Given the description of an element on the screen output the (x, y) to click on. 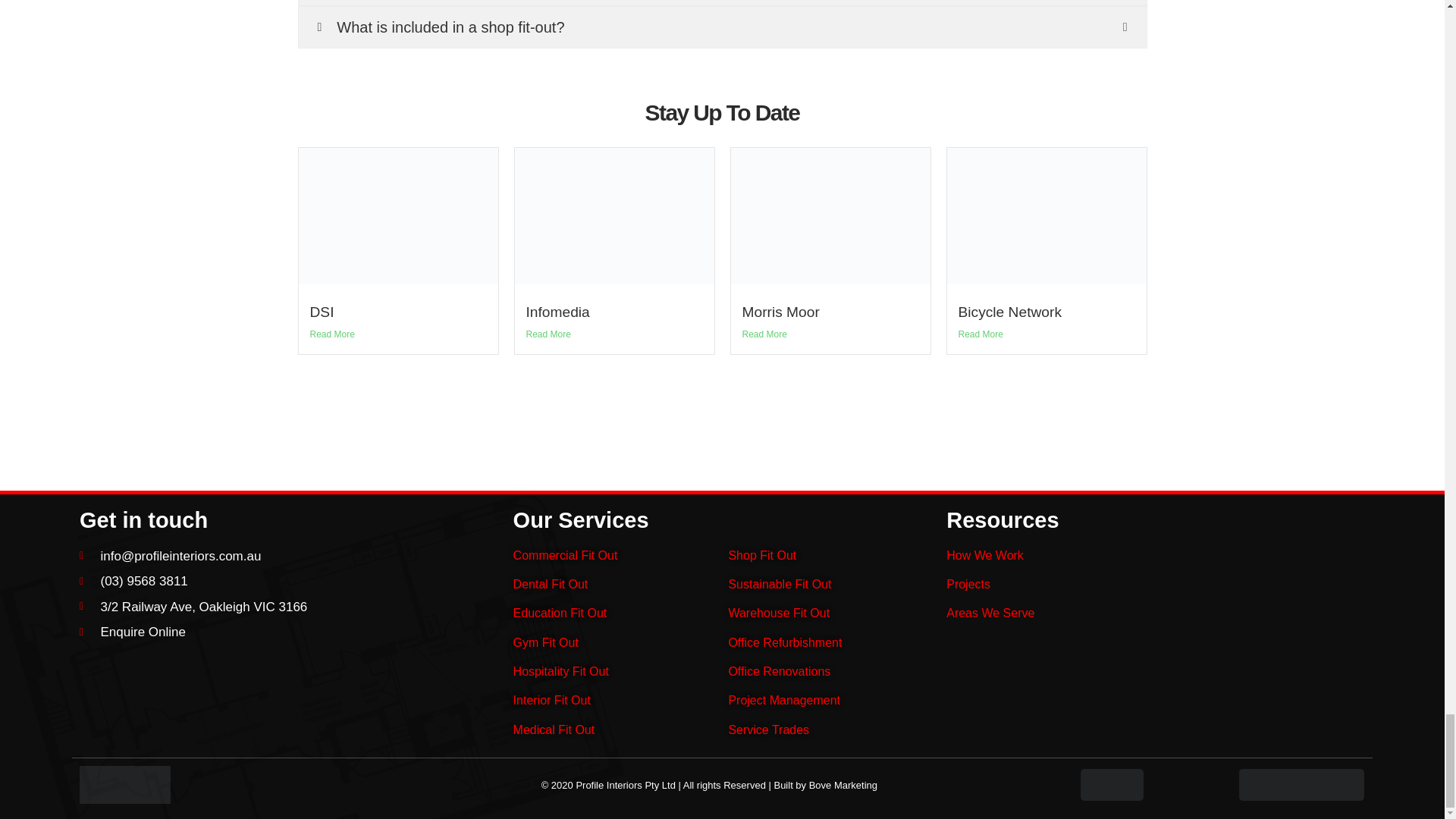
Morris Moor (779, 311)
Infomedia (557, 311)
Read More (330, 334)
DSI (320, 311)
Bicycle Network (1009, 311)
Infomedia (557, 311)
DSI (320, 311)
